Given the description of an element on the screen output the (x, y) to click on. 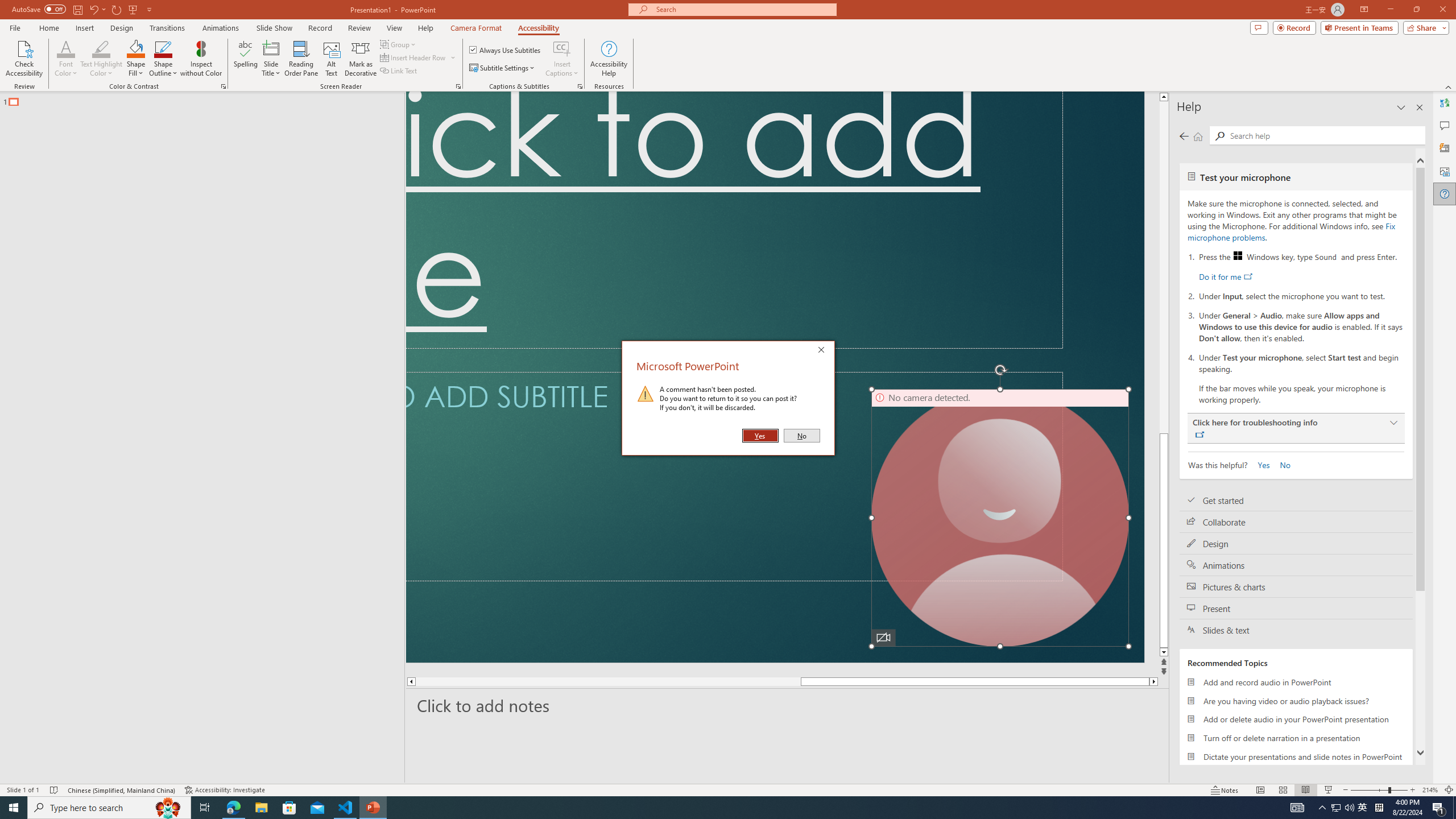
Fix microphone problems (1291, 231)
Camera Format (475, 28)
Subtitle Settings (502, 67)
Turn off or delete narration in a presentation (1295, 737)
Slide Title (271, 58)
